Given the description of an element on the screen output the (x, y) to click on. 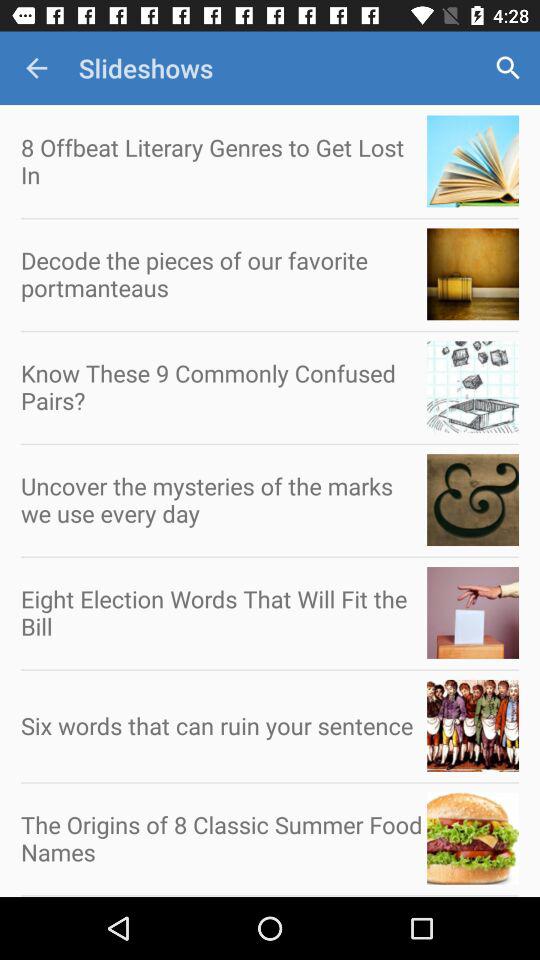
turn on the icon to the right of slideshows (508, 67)
